Given the description of an element on the screen output the (x, y) to click on. 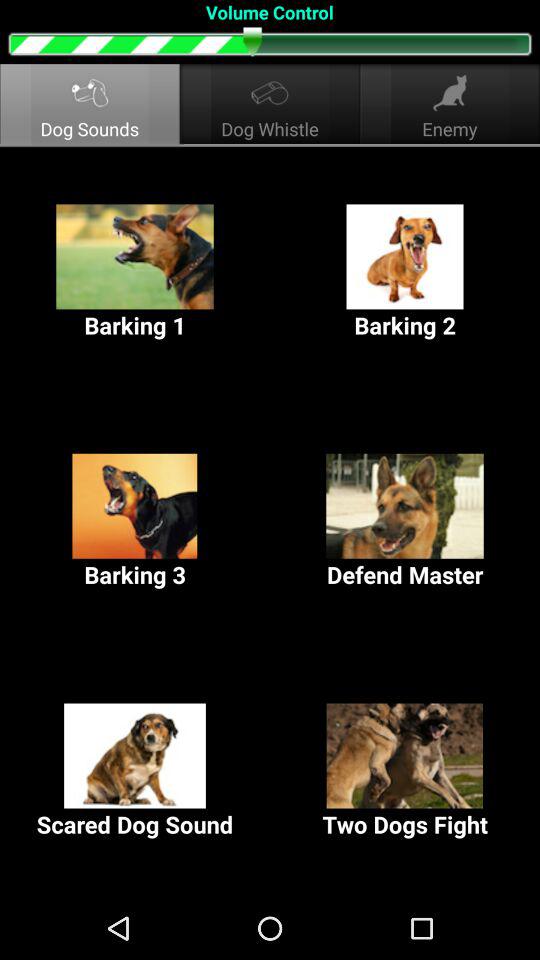
click the button next to scared dog sound icon (405, 771)
